Given the description of an element on the screen output the (x, y) to click on. 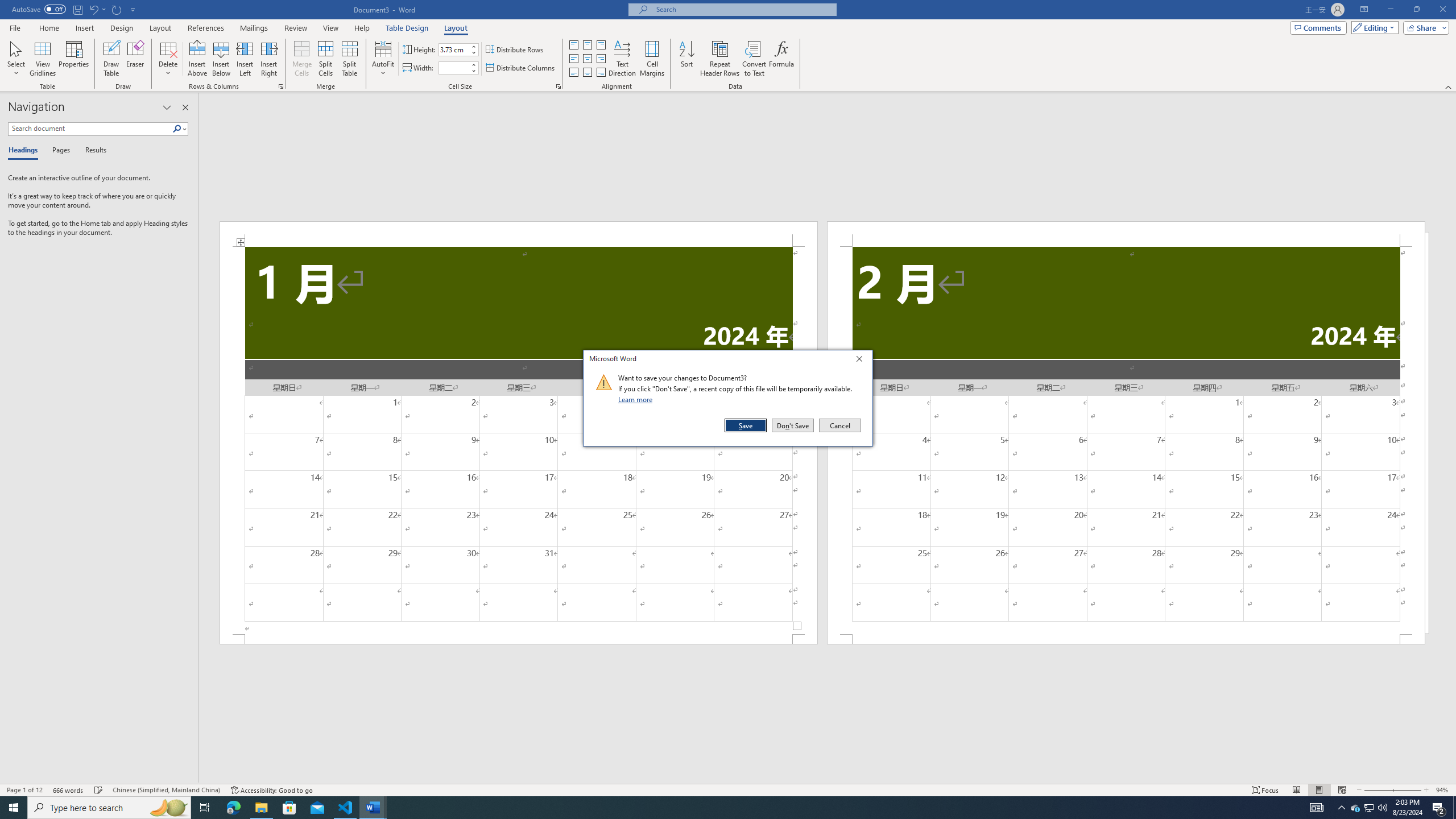
User Promoted Notification Area (1368, 807)
Insert Left (244, 58)
Align Center Justified (573, 58)
